Given the description of an element on the screen output the (x, y) to click on. 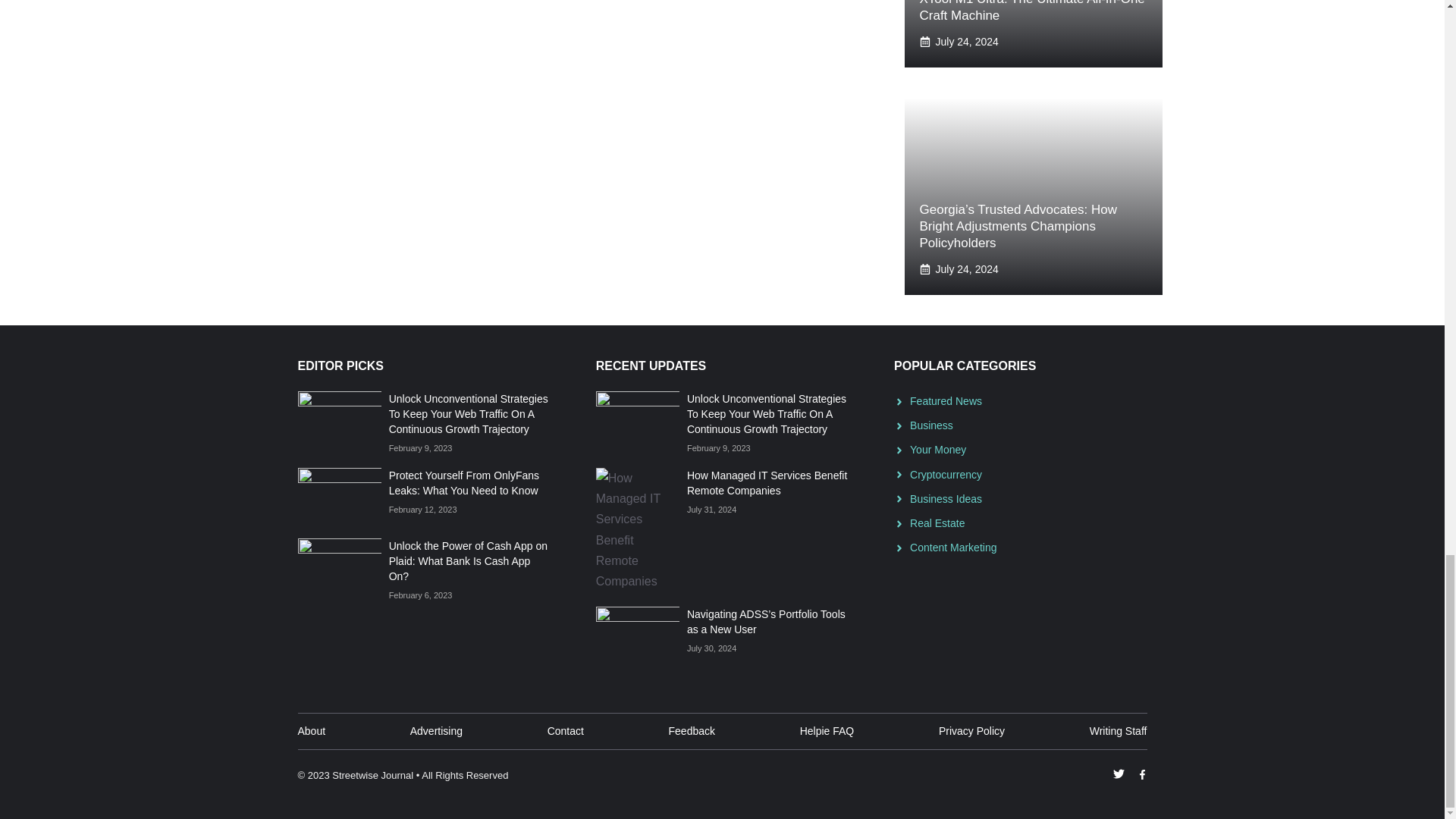
Protect Yourself From OnlyFans Leaks: What You Need to Know (463, 482)
XTool M1 Ultra: The Ultimate All-In-One Craft Machine (1031, 11)
Featured News (945, 400)
How Managed IT Services Benefit Remote Companies (767, 482)
Business (931, 425)
